Given the description of an element on the screen output the (x, y) to click on. 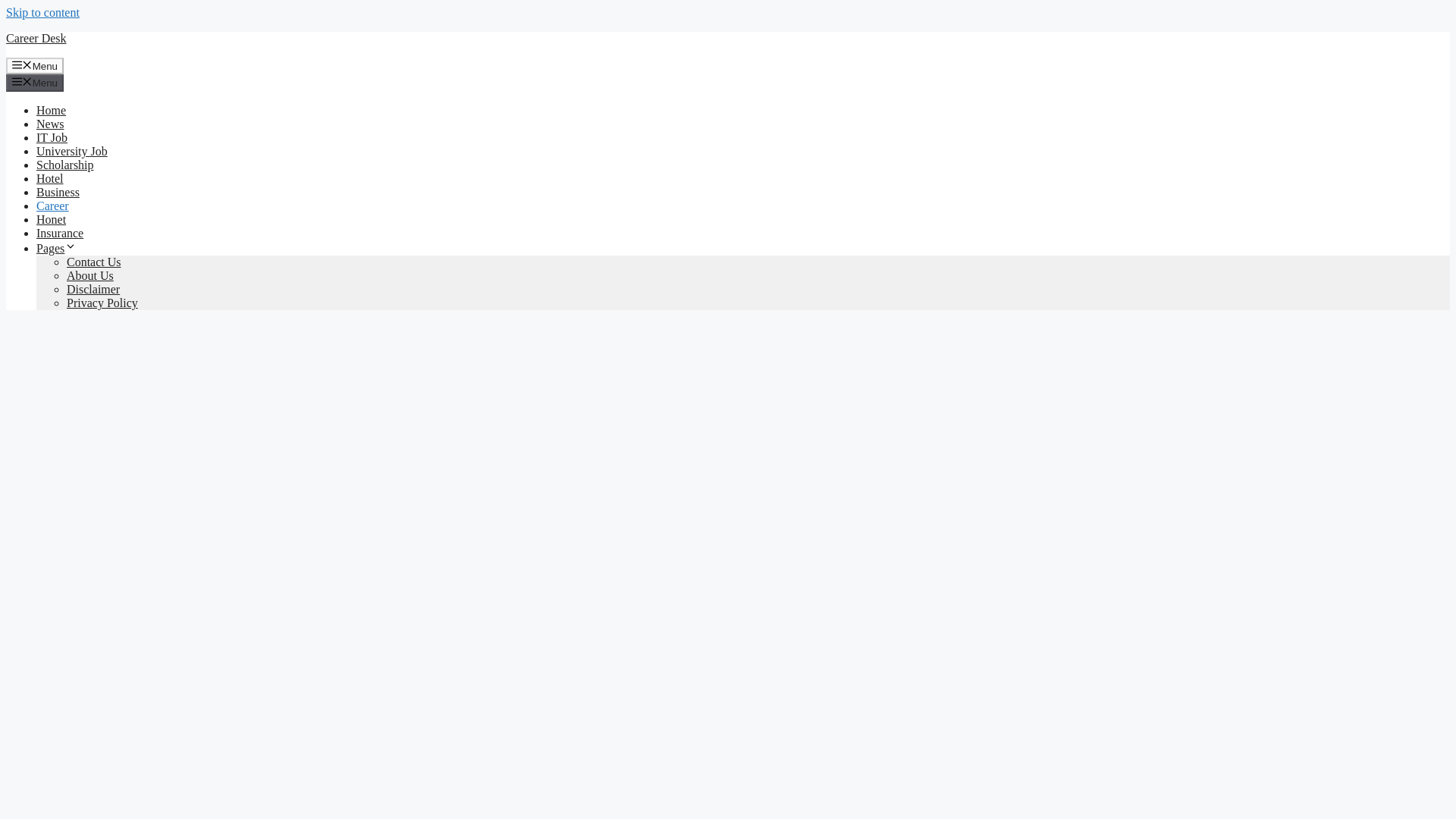
Pages (56, 247)
Disclaimer (92, 288)
Career (52, 205)
Menu (34, 65)
About Us (89, 275)
Insurance (59, 232)
Home (50, 110)
Skip to content (42, 11)
IT Job (51, 137)
Contact Us (93, 261)
University Job (71, 151)
Scholarship (65, 164)
Menu (34, 82)
Honet (50, 219)
Hotel (50, 178)
